Given the description of an element on the screen output the (x, y) to click on. 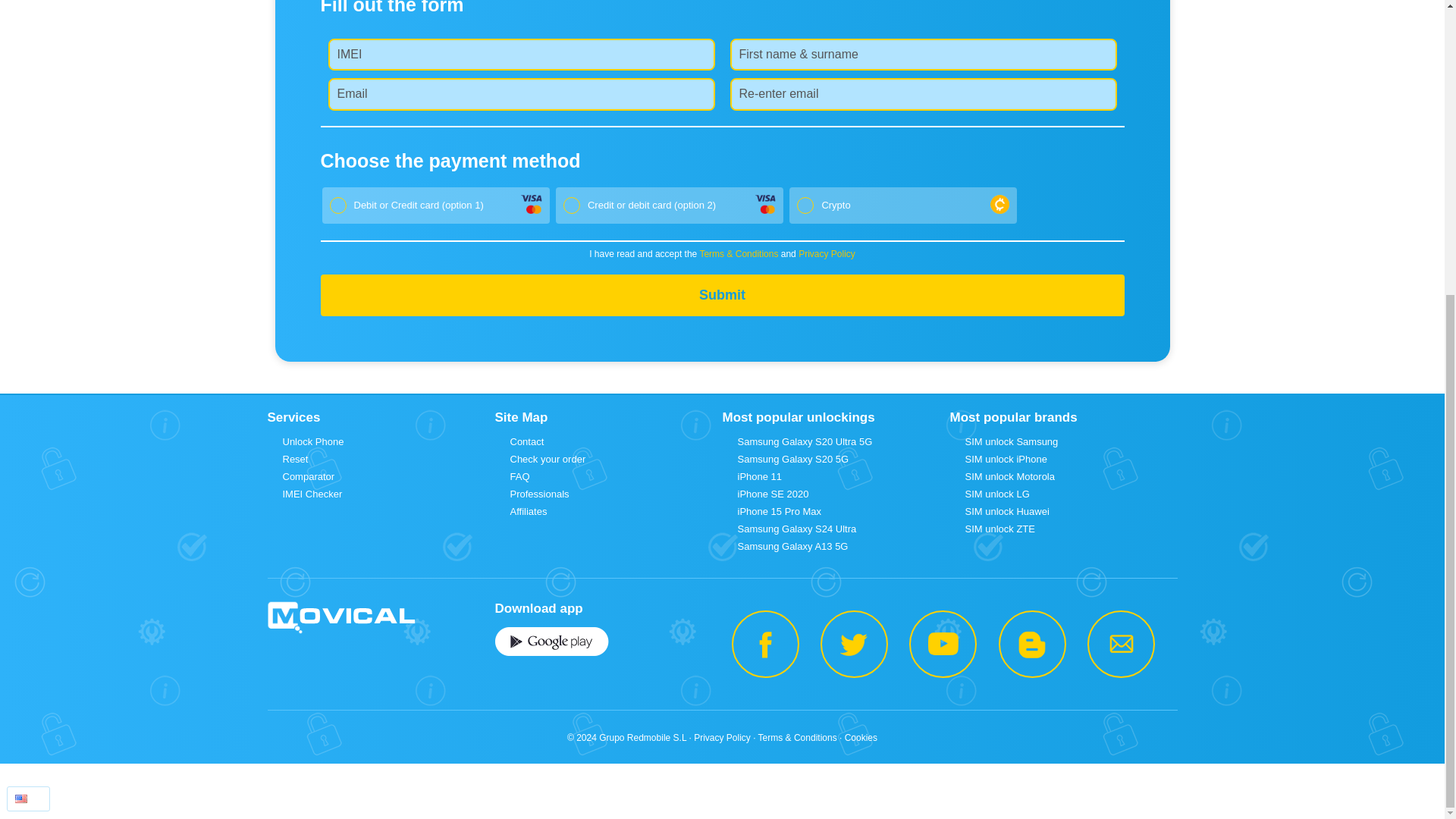
Movical.Net (340, 618)
Re-enter email (922, 93)
You receive unlocking instructions in this email (521, 93)
